Given the description of an element on the screen output the (x, y) to click on. 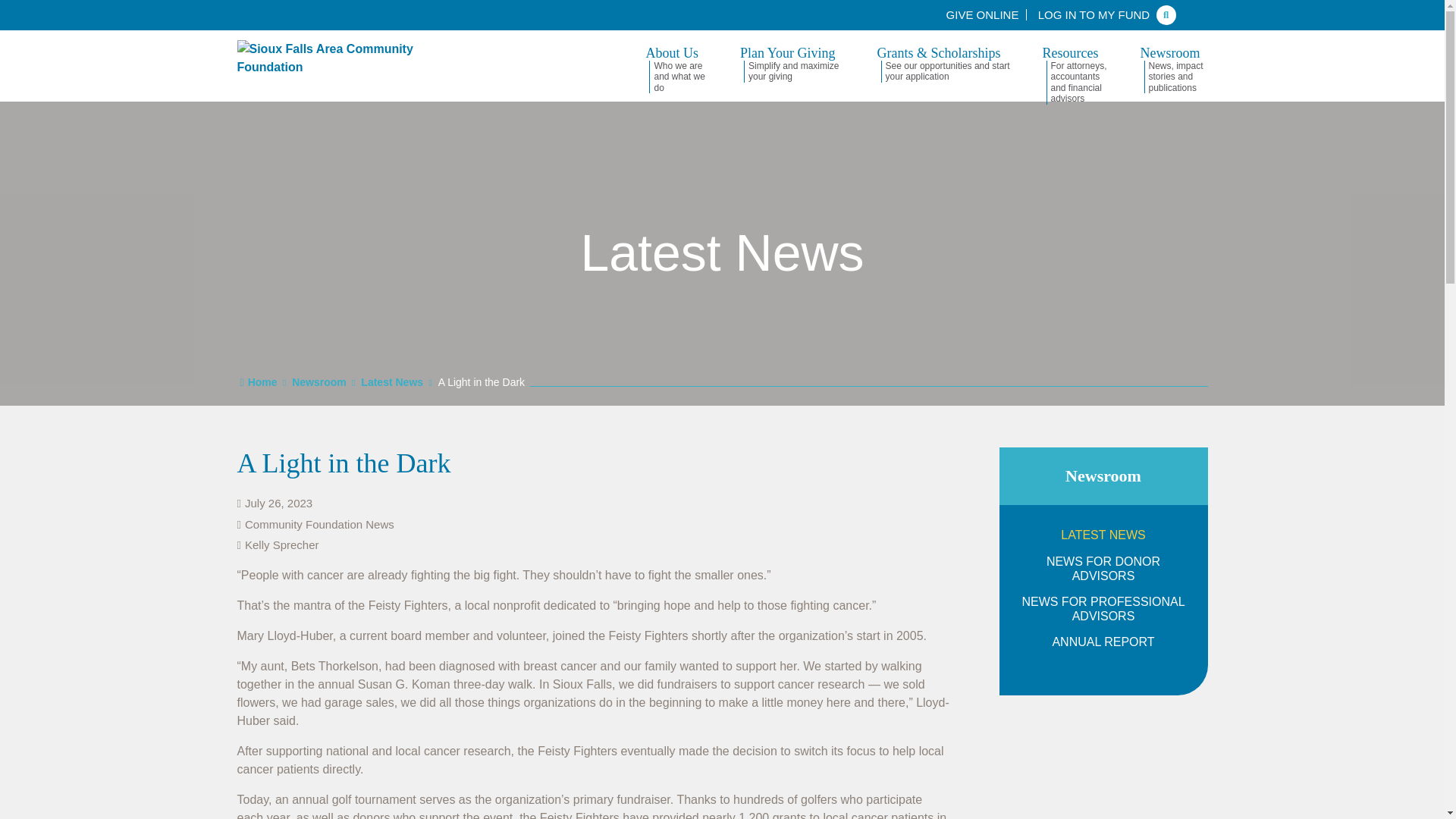
Resources (1074, 66)
Plan Your Giving (791, 66)
LOG IN TO MY FUND (1094, 14)
Newsroom (1174, 66)
GIVE ONLINE (982, 14)
